Given the description of an element on the screen output the (x, y) to click on. 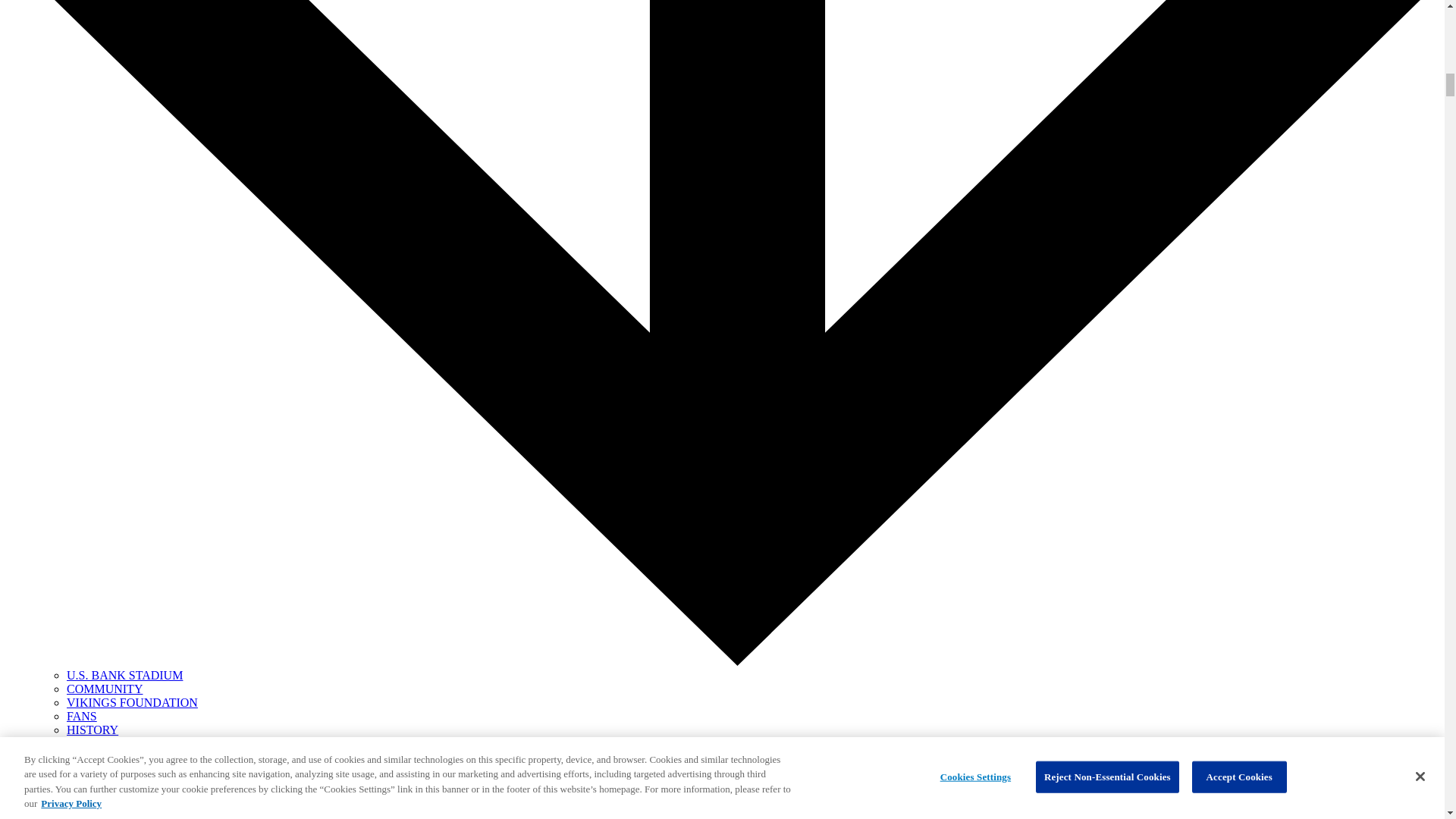
Mobile App (65, 796)
Shop (48, 809)
CHEERLEADERS (113, 743)
FANS (81, 716)
COMMUNITY (104, 688)
COMMUNITY (104, 688)
VIKINGS FOUNDATION (132, 702)
YOUTH PROGRAMS (122, 757)
HISTORY (91, 729)
U.S. BANK STADIUM (124, 675)
Shop (48, 809)
HISTORY (91, 729)
YOUTH AND HIGH SCHOOL FOOTBALL (177, 770)
FANS (81, 716)
YOUTH PROGRAMS (122, 757)
